Given the description of an element on the screen output the (x, y) to click on. 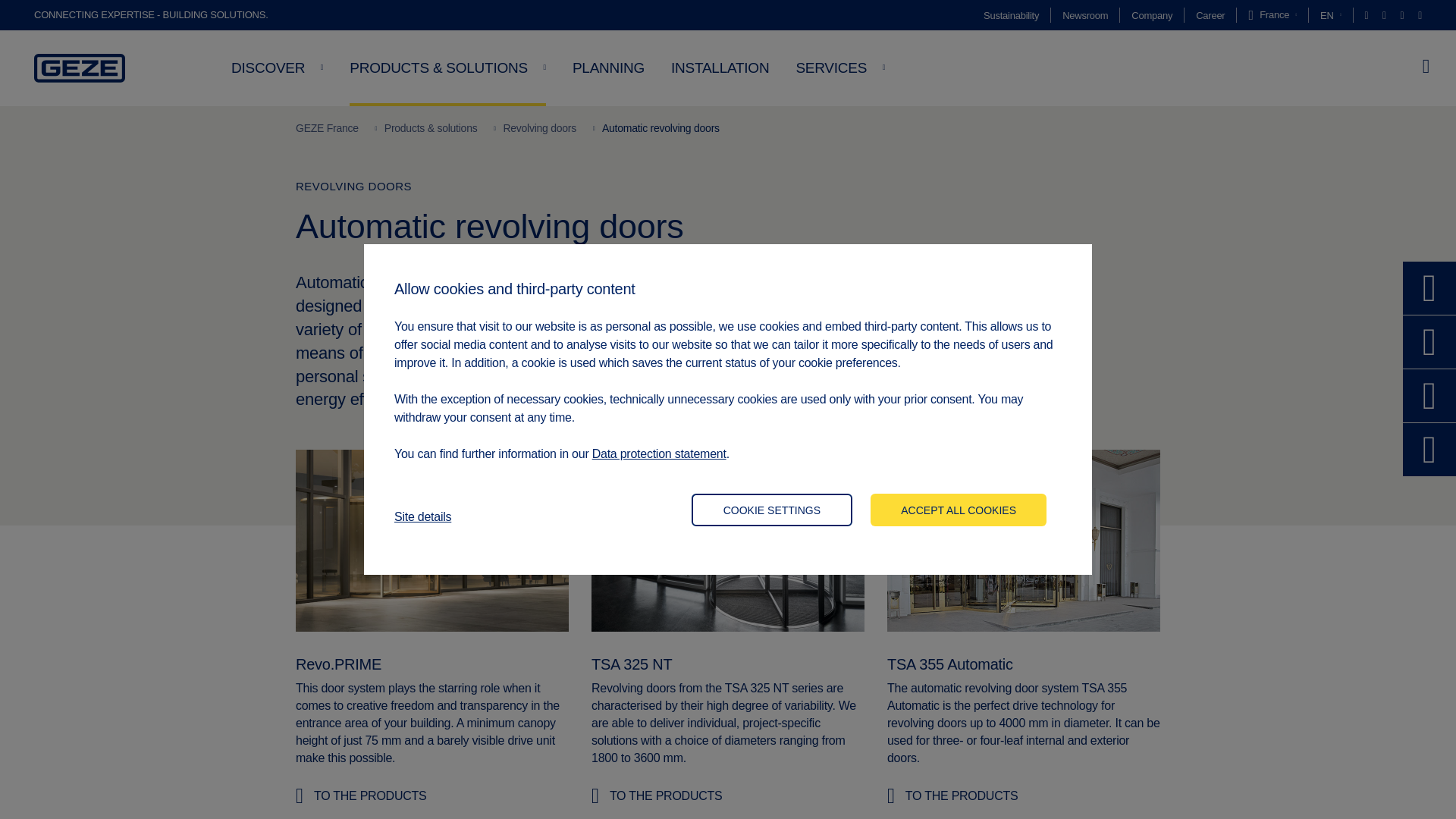
Sustainability (1011, 15)
Sustainability (1011, 15)
France (1272, 15)
Company (1151, 15)
Career (1209, 15)
Career (1209, 15)
Newsroom (1085, 15)
Newsroom (1085, 15)
Company (1151, 15)
